Given the description of an element on the screen output the (x, y) to click on. 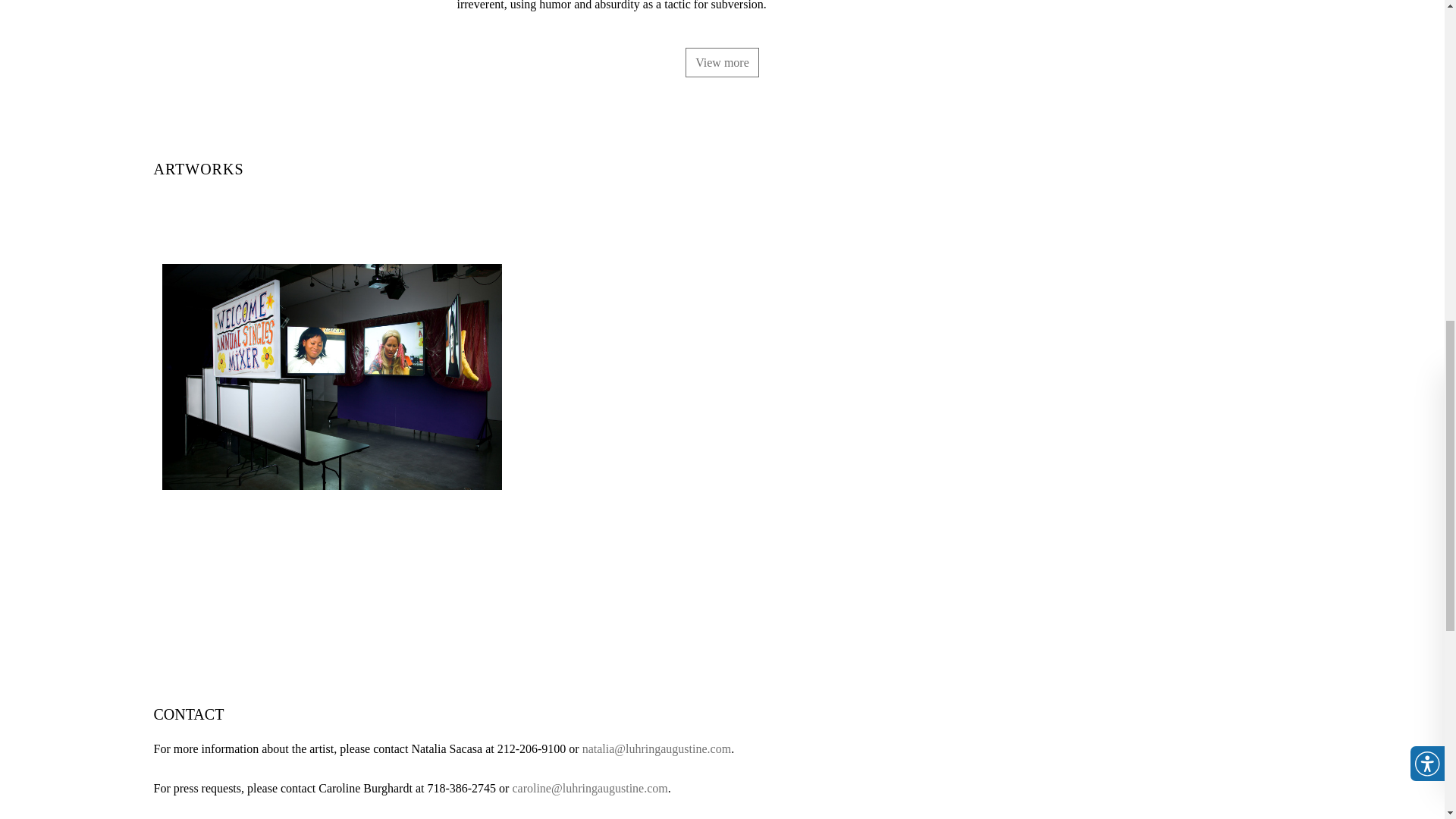
View more (721, 61)
